Given the description of an element on the screen output the (x, y) to click on. 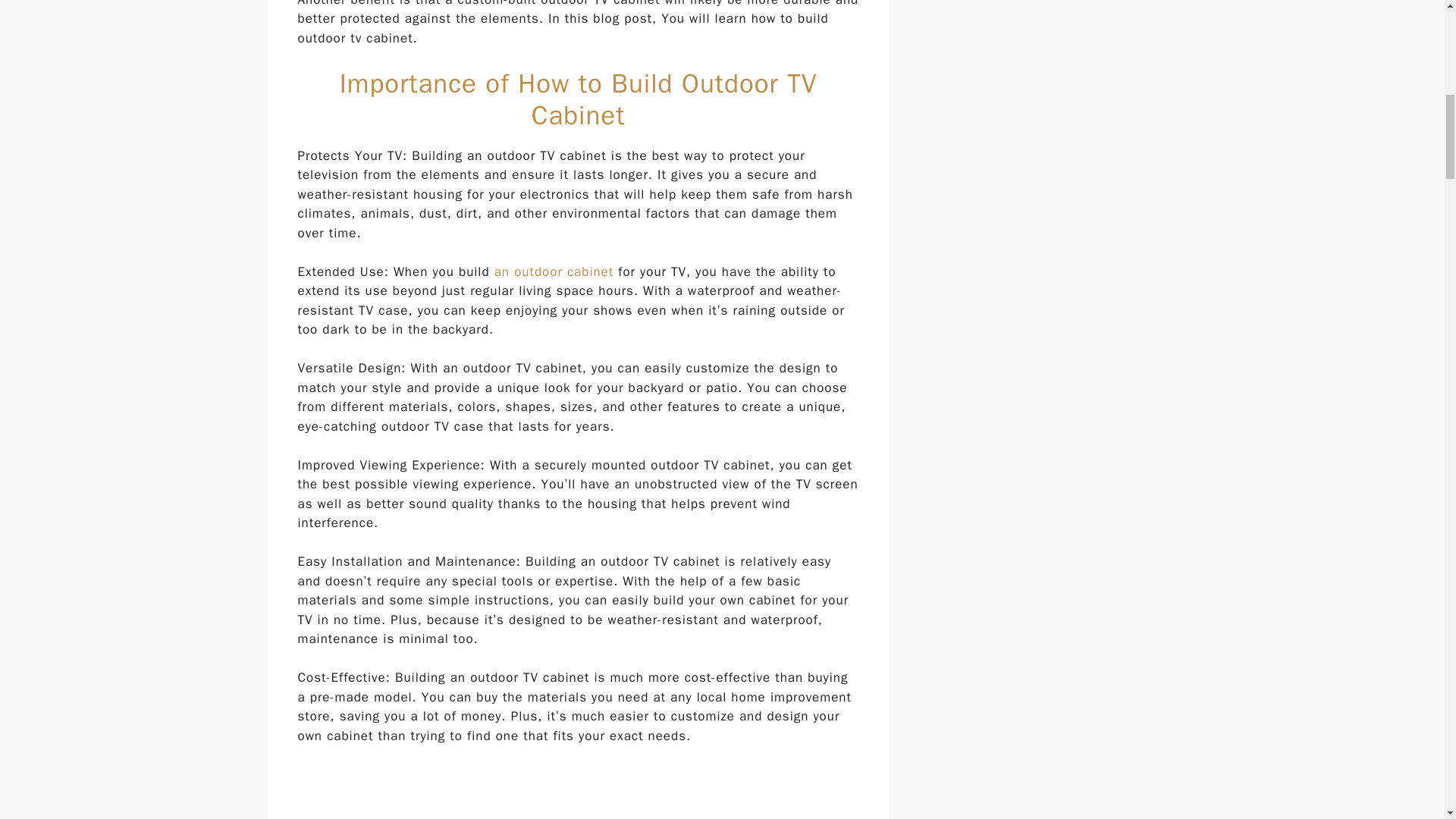
an outdoor cabinet (554, 271)
Scroll back to top (1406, 720)
